Given the description of an element on the screen output the (x, y) to click on. 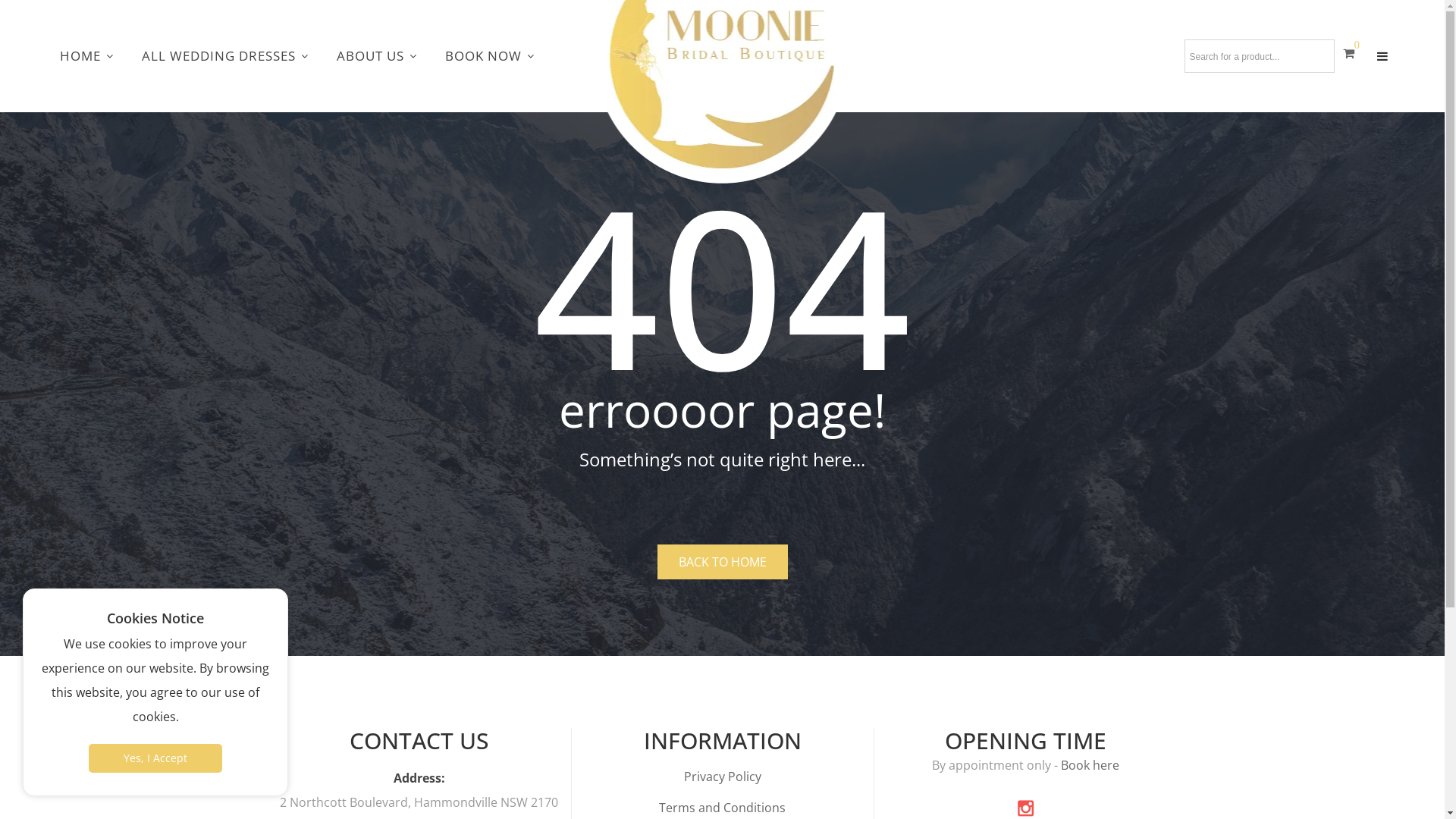
0 Element type: text (1350, 52)
Privacy Policy Element type: text (722, 776)
BOOK NOW Element type: text (489, 56)
ABOUT US Element type: text (376, 56)
Yes, I Accept Element type: text (155, 757)
Login Element type: text (1234, 299)
ALL WEDDING DRESSES Element type: text (224, 56)
BACK TO HOME Element type: text (721, 561)
Book here Element type: text (1089, 764)
Terms and Conditions Element type: text (721, 807)
HOME Element type: text (86, 56)
